Given the description of an element on the screen output the (x, y) to click on. 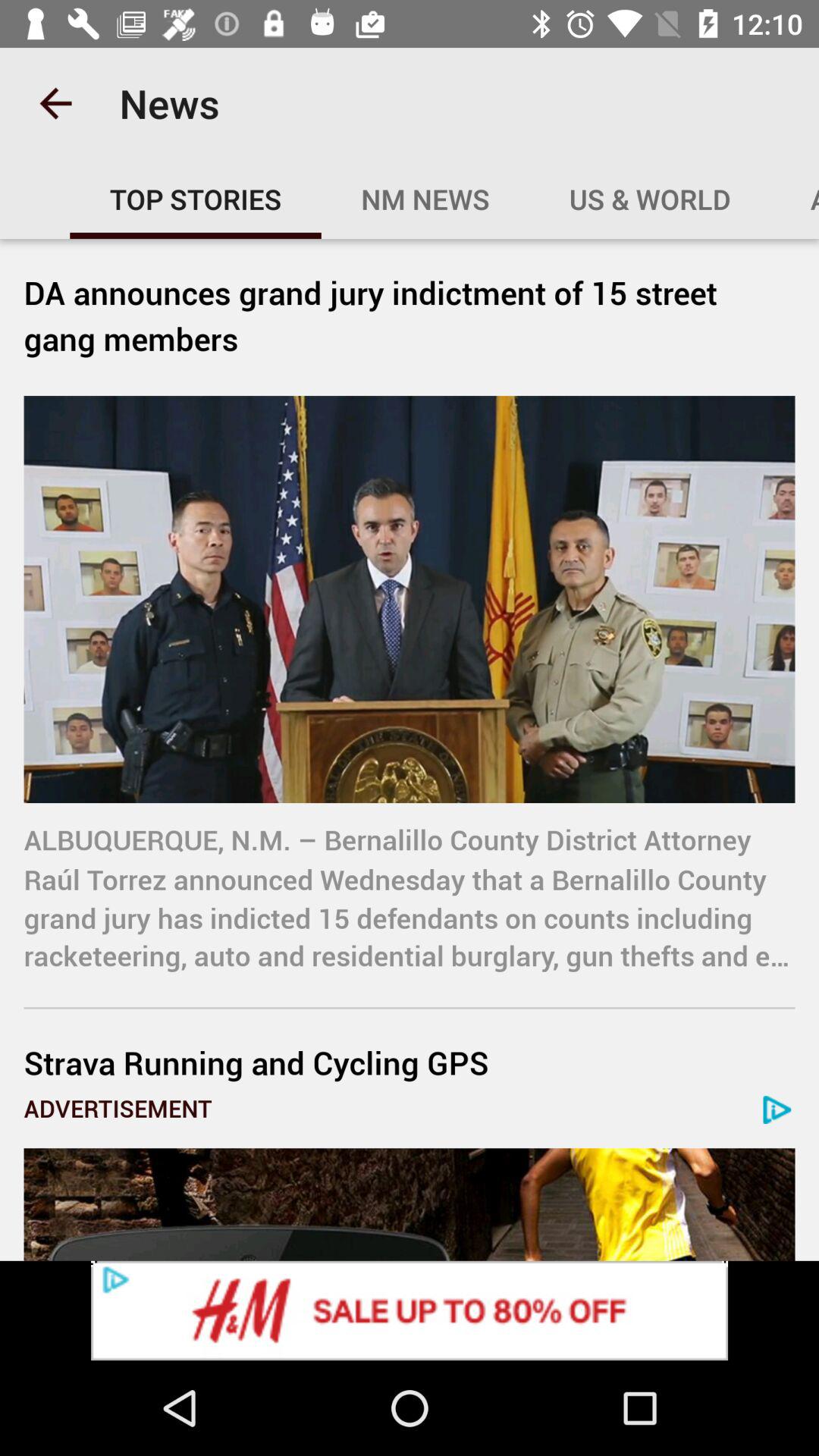
tap the item above the top stories item (55, 103)
